Given the description of an element on the screen output the (x, y) to click on. 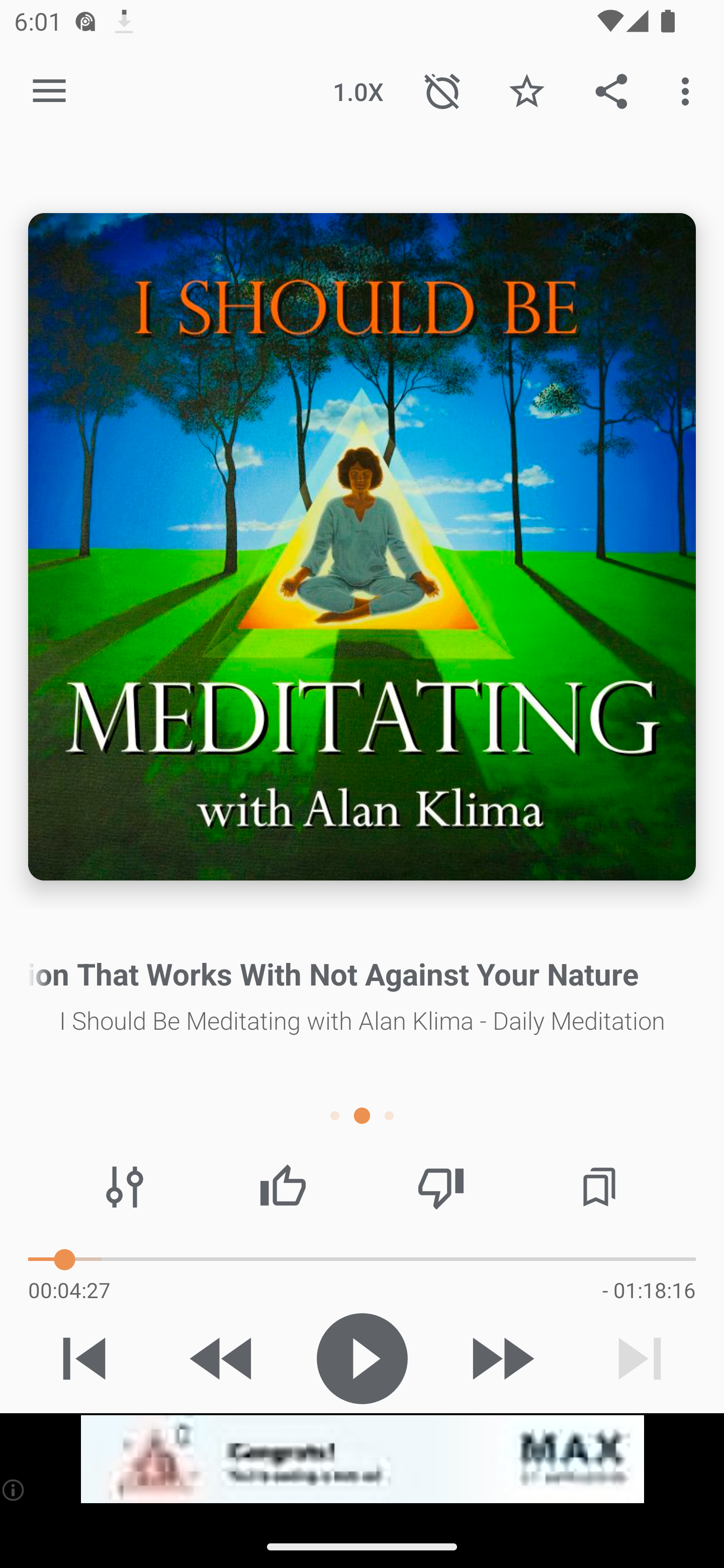
Open navigation sidebar (49, 91)
1.0X (357, 90)
Sleep Timer (442, 90)
Favorite (526, 90)
Share (611, 90)
More options (688, 90)
Episode description (361, 547)
Audio effects (124, 1186)
Thumbs up (283, 1186)
Thumbs down (440, 1186)
Chapters / Bookmarks (598, 1186)
- 01:18:16 (648, 1289)
Previous track (84, 1358)
Skip 15s backward (222, 1358)
Play / Pause (362, 1358)
Skip 30s forward (500, 1358)
Next track (639, 1358)
app-monetization (362, 1459)
(i) (14, 1489)
